Given the description of an element on the screen output the (x, y) to click on. 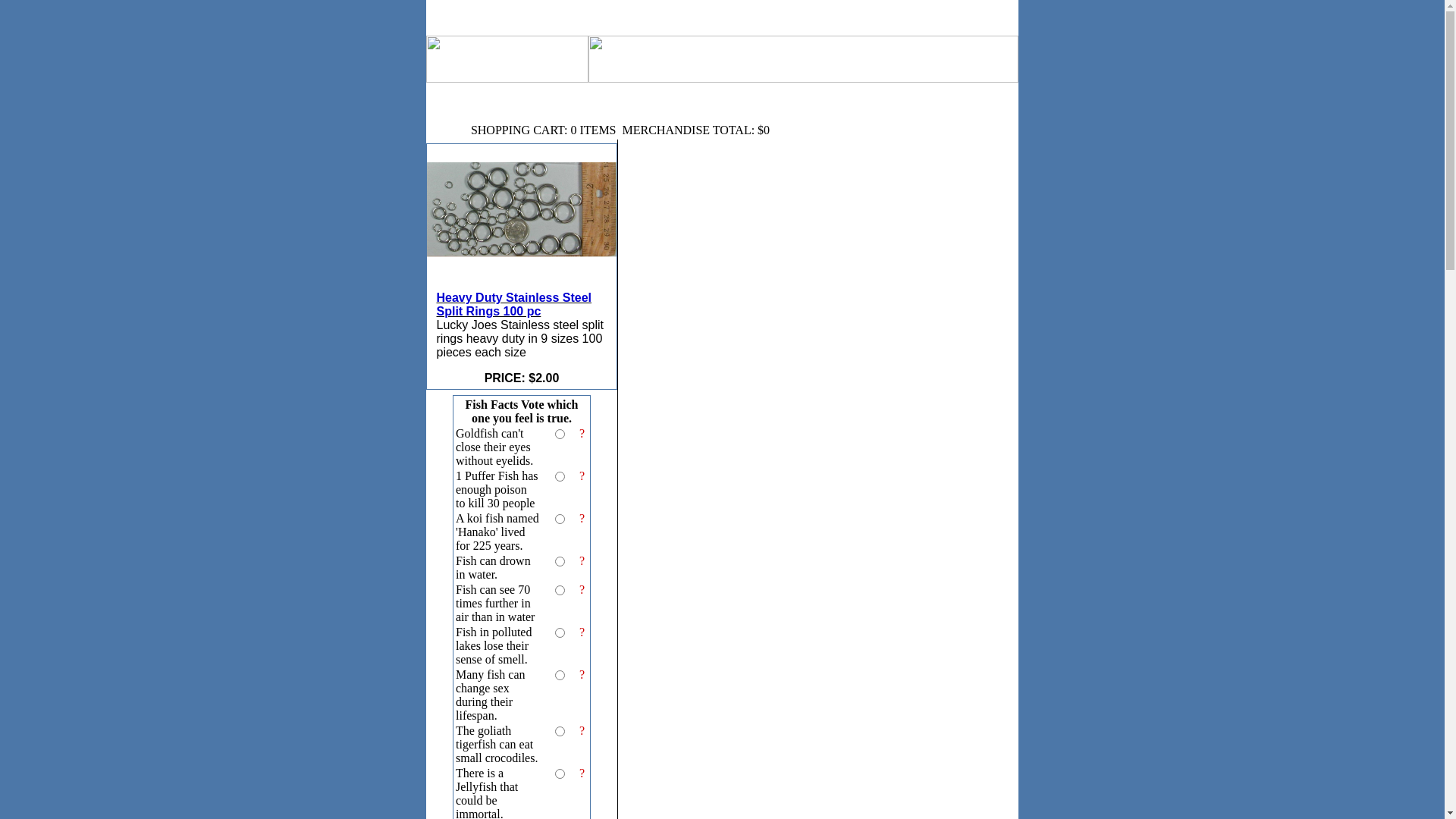
Heavy Duty Stainless Steel Split Rings 100 pc Element type: text (514, 304)
Heavy Duty Stainless Steel Split Rings 100 pc Element type: hover (521, 226)
Heavy Duty Stainless Steel Split Rings 100 pc Element type: hover (521, 286)
